Given the description of an element on the screen output the (x, y) to click on. 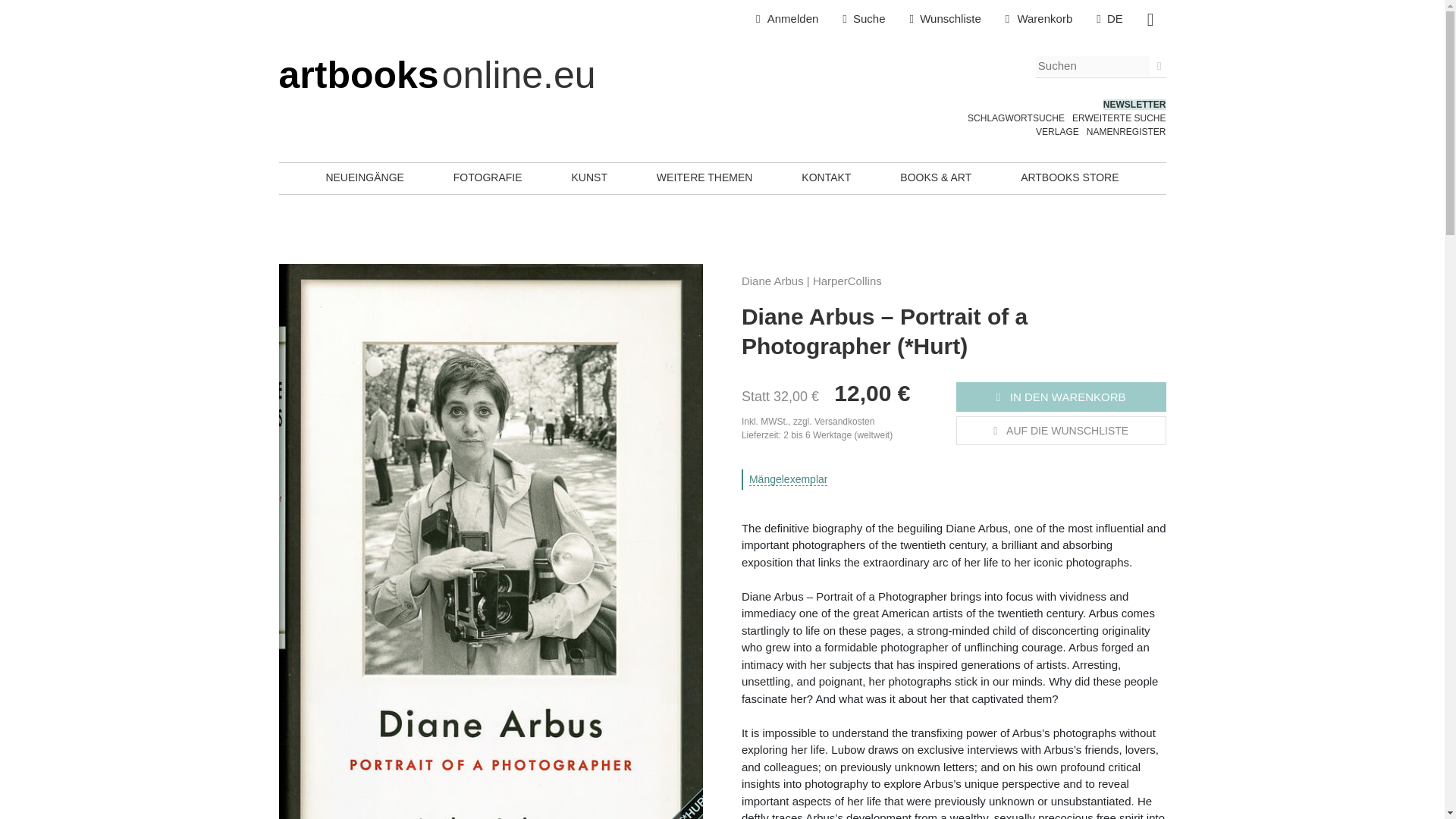
FOTOGRAFIE (487, 177)
Suche (862, 19)
DE (1109, 19)
artbooksonline.eu (437, 75)
SCHLAGWORTSUCHE (1016, 118)
Anmelden (786, 19)
NEWSLETTER (1134, 104)
VERLAGE (1056, 131)
Warenkorb (1038, 19)
Wunschliste (945, 19)
